Given the description of an element on the screen output the (x, y) to click on. 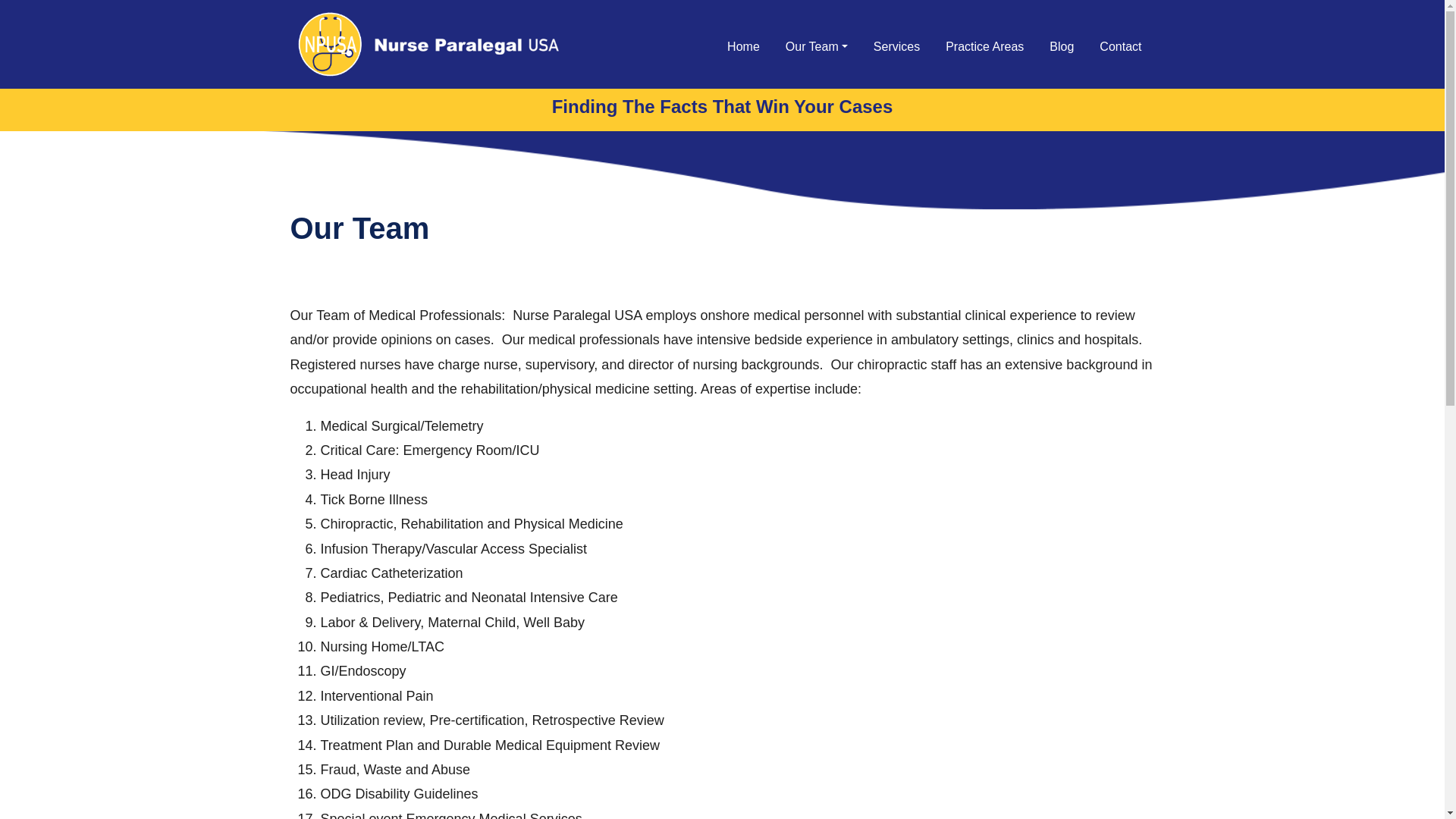
Practice Areas (984, 46)
Services (896, 46)
Contact (1119, 46)
Our Team (816, 46)
Home (743, 46)
Our Team (816, 46)
Contact (1119, 46)
Practice Areas (984, 46)
Home (743, 46)
Services (896, 46)
